Given the description of an element on the screen output the (x, y) to click on. 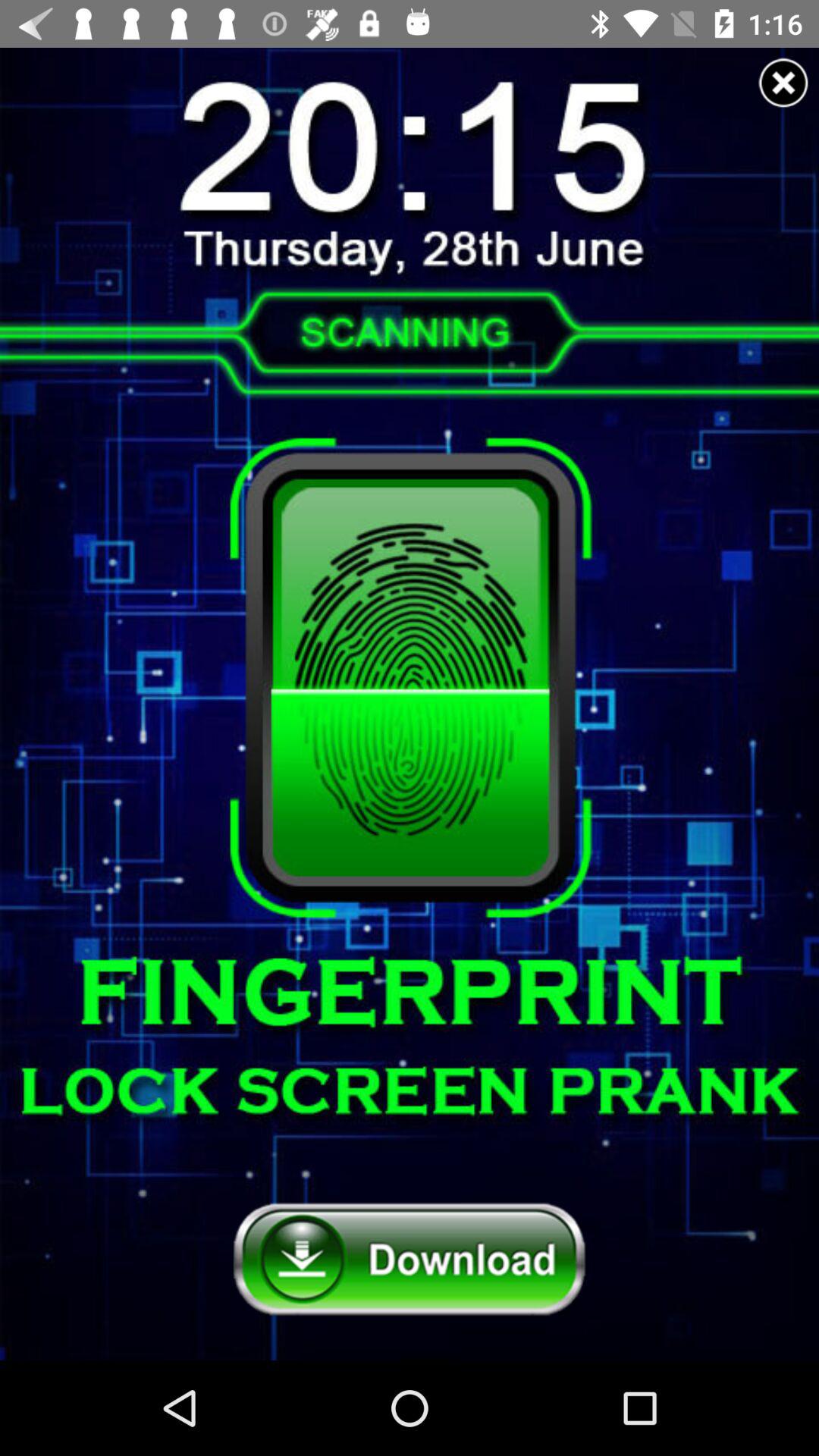
go to close (783, 83)
